Given the description of an element on the screen output the (x, y) to click on. 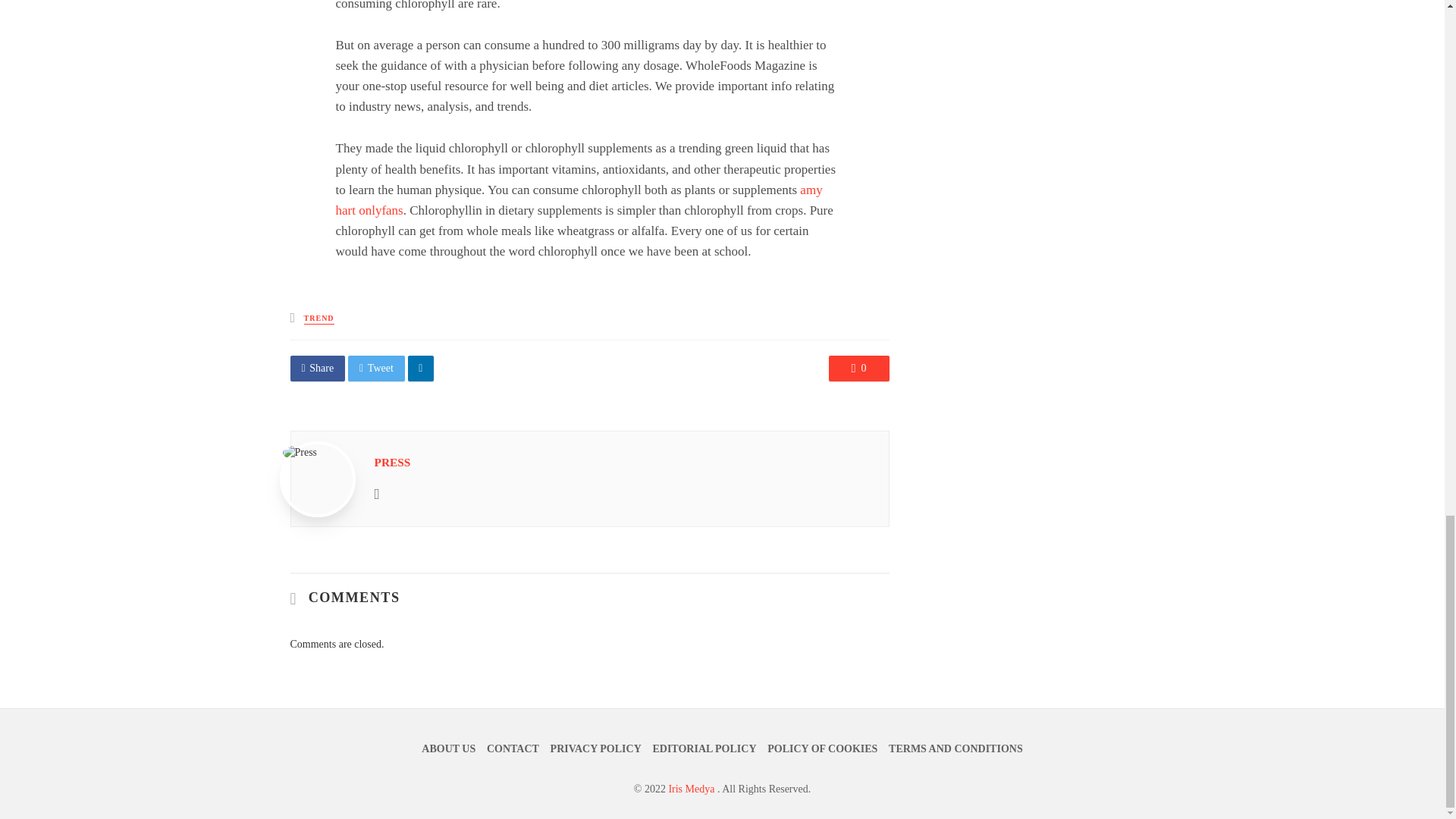
amy hart onlyfans (578, 199)
Website (377, 492)
Share on Linkedin (420, 368)
0 Comments (858, 368)
Share on Twitter (375, 368)
TREND (319, 318)
PRESS (392, 461)
Tweet (375, 368)
Share on Facebook (317, 368)
0 (858, 368)
Posts by Press (392, 461)
Share (317, 368)
